Given the description of an element on the screen output the (x, y) to click on. 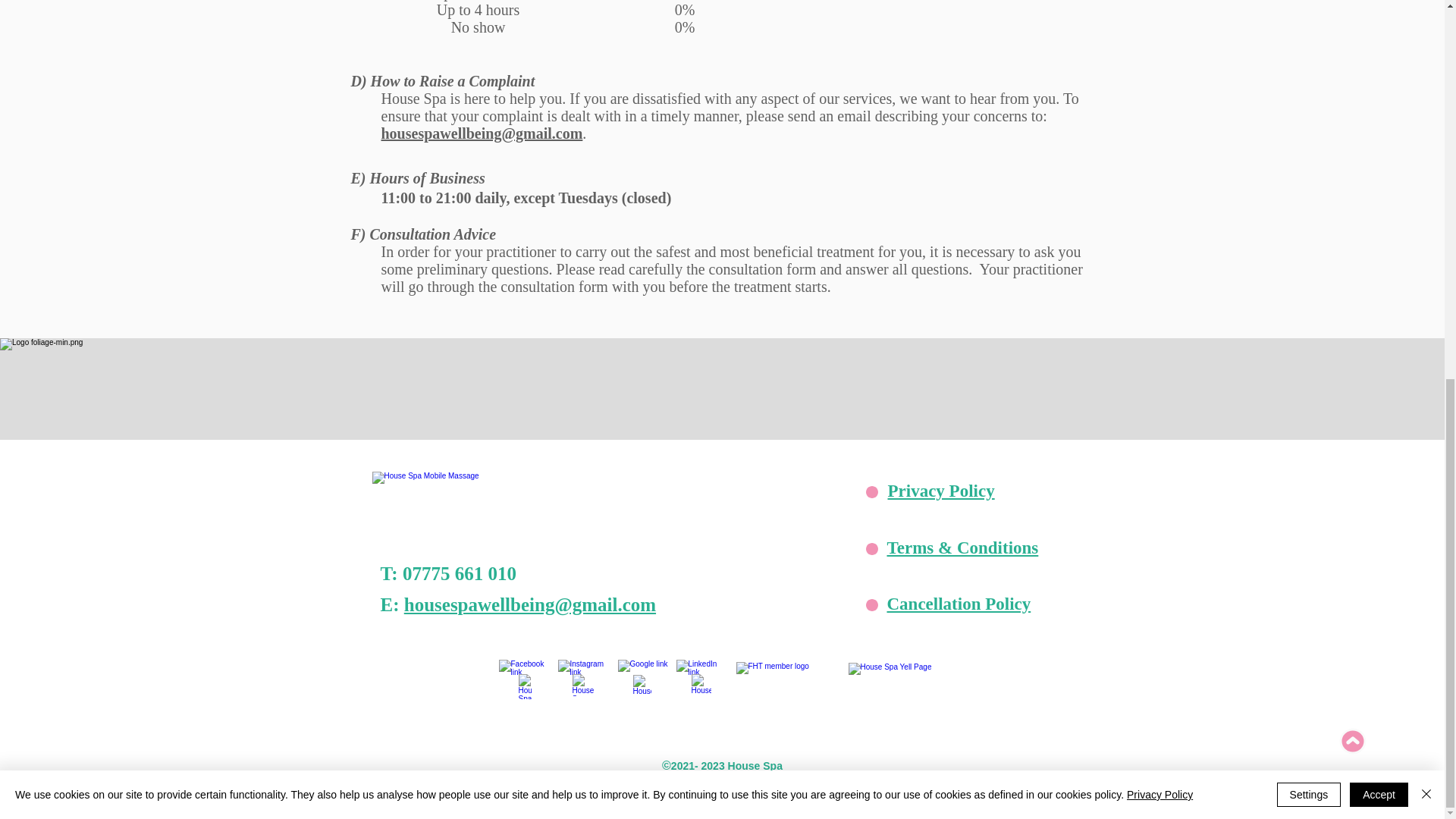
Background soc med button.png (524, 685)
Cancellation Policy (958, 603)
Background soc med button.png (642, 685)
Privacy Policy (940, 490)
Background soc med button.png (701, 685)
in.png (701, 683)
Instagram2.png (583, 685)
Background soc med button.png (582, 685)
